Given the description of an element on the screen output the (x, y) to click on. 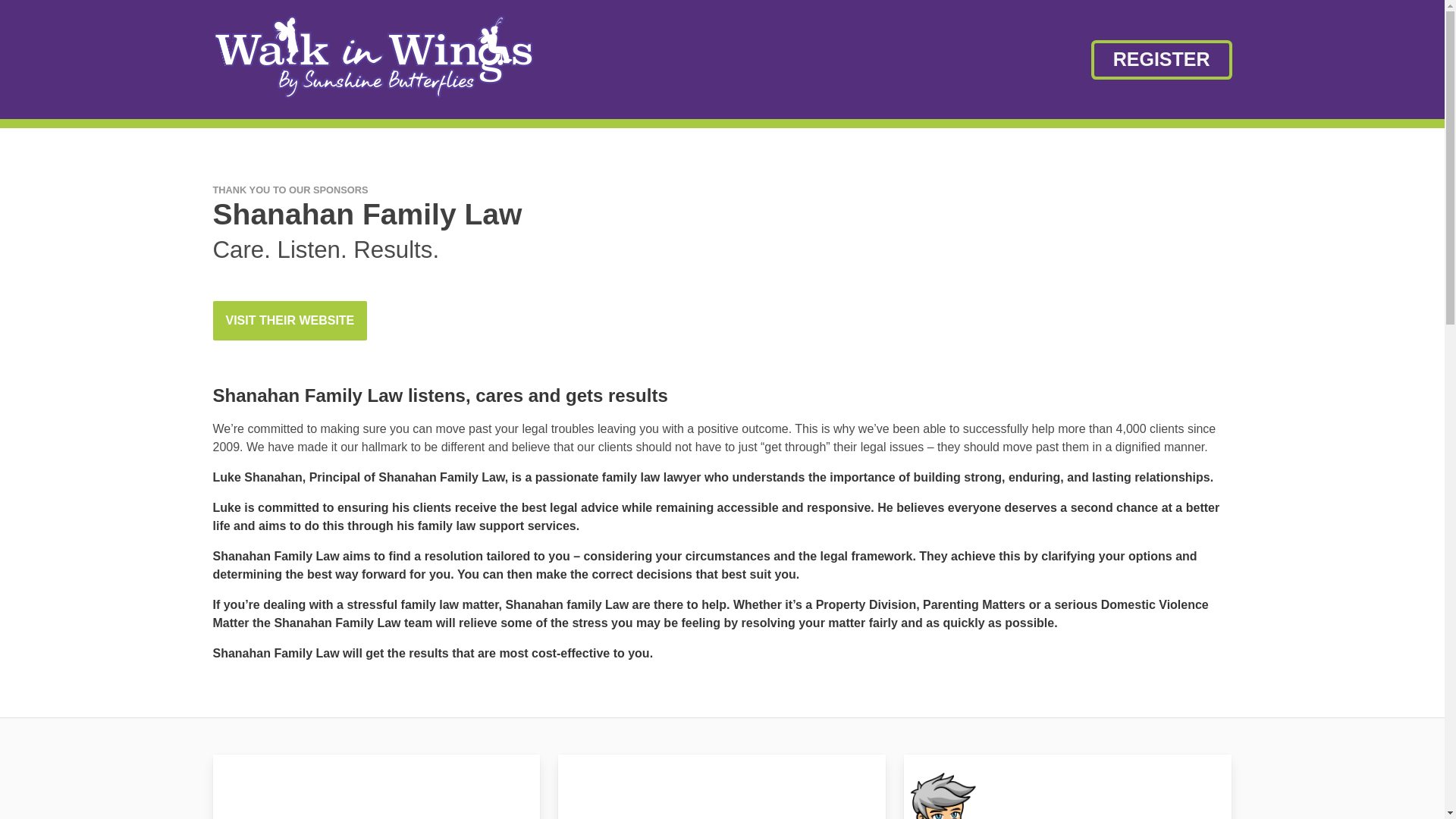
Team Body Corporate (376, 786)
Ethical Brand Co (721, 786)
Team Body Corporate (376, 786)
VISIT THEIR WEBSITE (289, 320)
Ethical Brand Co (721, 786)
REGISTER (1160, 58)
